Given the description of an element on the screen output the (x, y) to click on. 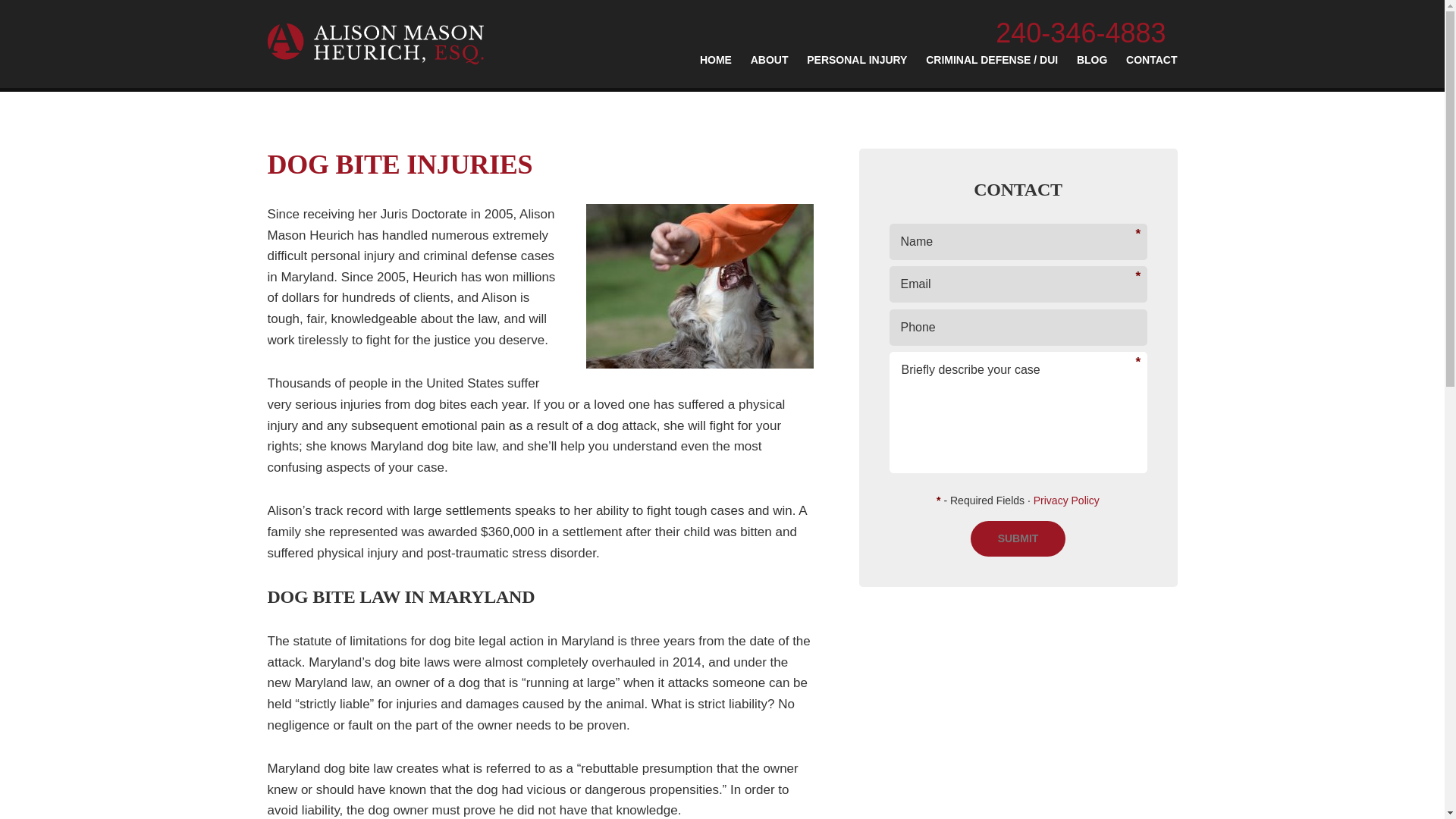
BLOG (1091, 66)
HOME (716, 66)
Alison Mason Heurich, Esq. (374, 43)
CONTACT (1150, 66)
PERSONAL INJURY (856, 66)
ABOUT (770, 66)
